Given the description of an element on the screen output the (x, y) to click on. 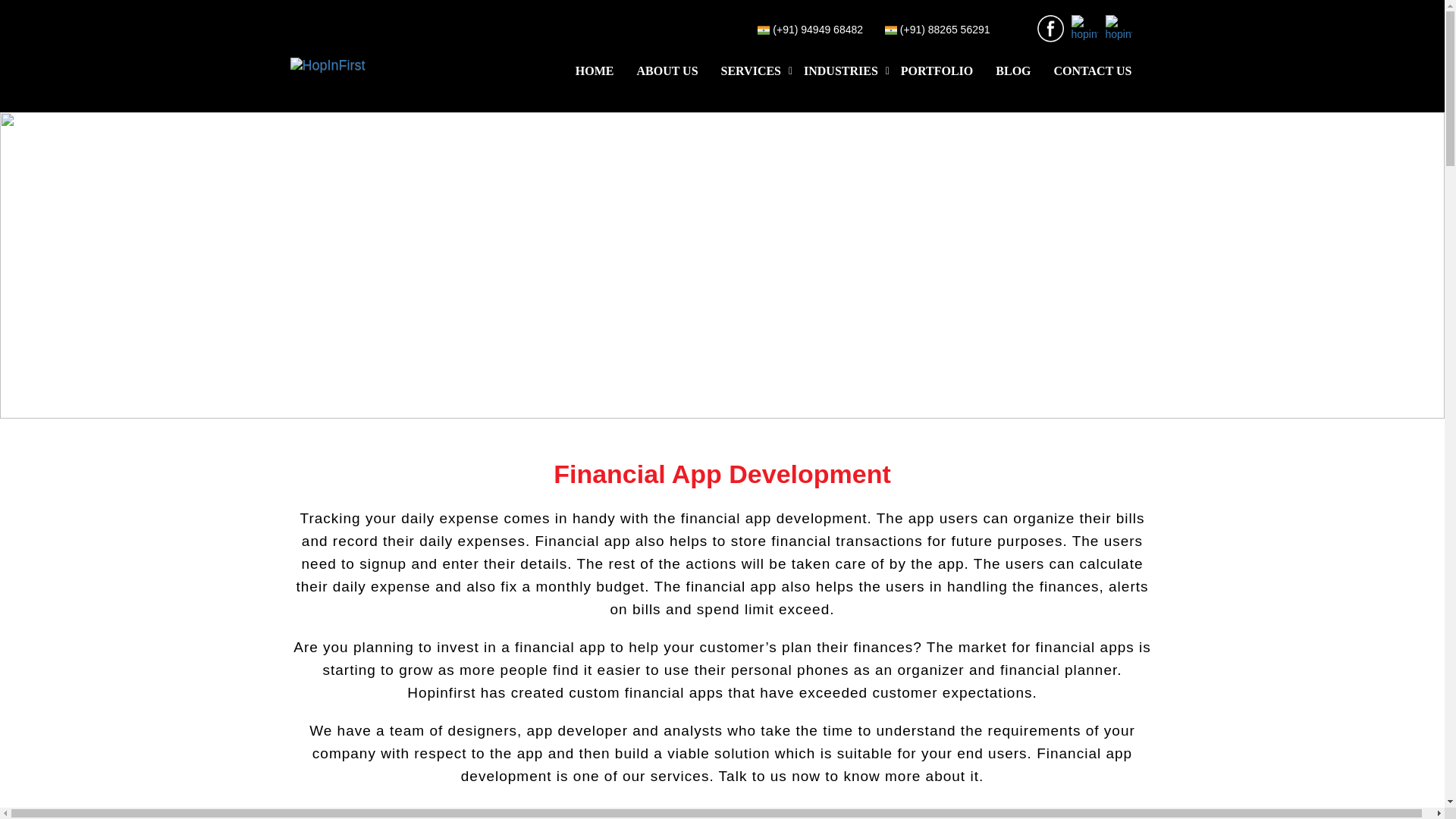
ABOUT US (666, 70)
CONTACT US (1093, 70)
PORTFOLIO (936, 70)
INDUSTRIES (840, 70)
SERVICES (750, 70)
